Given the description of an element on the screen output the (x, y) to click on. 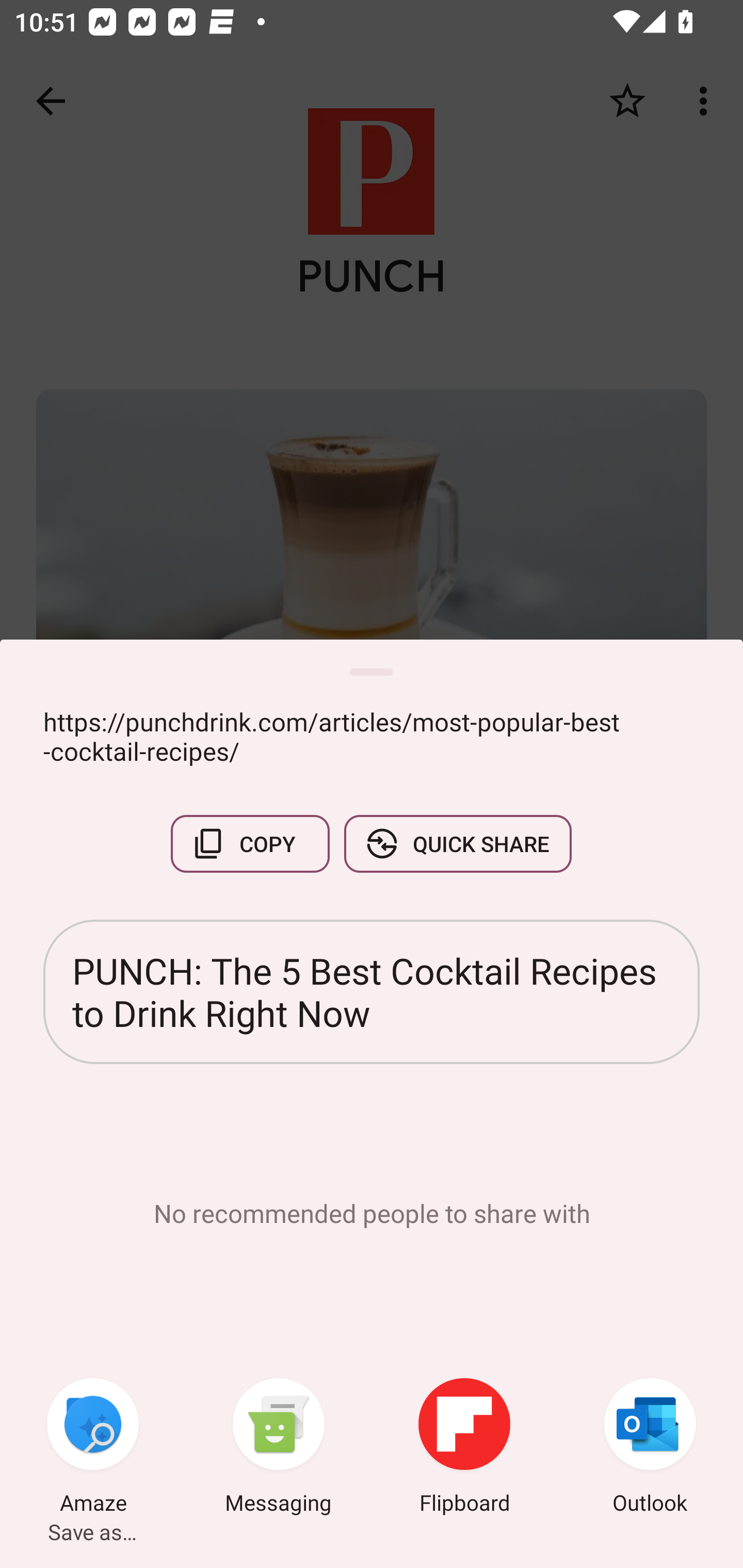
COPY (249, 844)
QUICK SHARE (457, 844)
Amaze Save as… (92, 1448)
Messaging (278, 1448)
Flipboard (464, 1448)
Outlook (650, 1448)
